Given the description of an element on the screen output the (x, y) to click on. 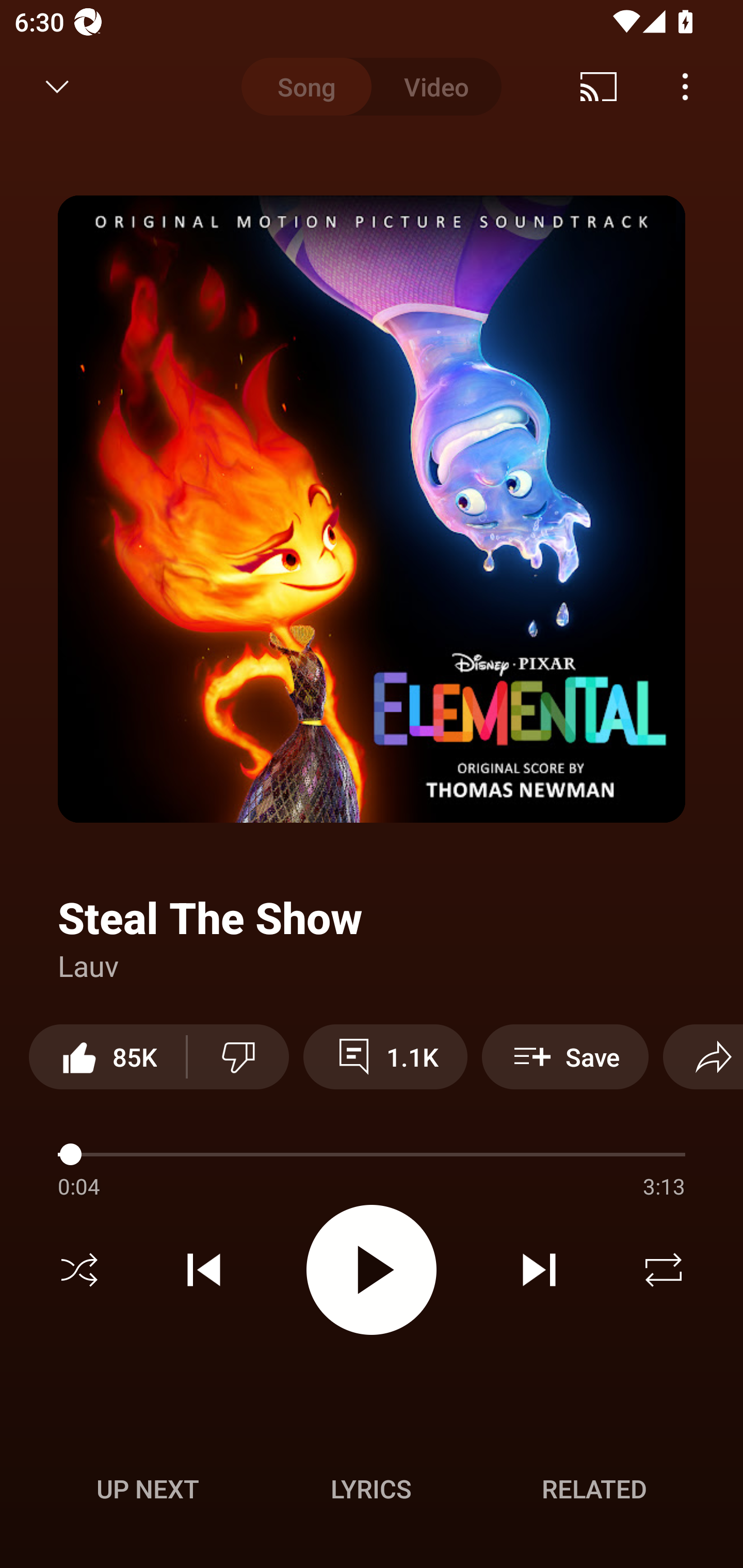
Minimize (57, 86)
Cast. Disconnected (598, 86)
Menu (684, 86)
85K like this video along with 85,782 other people (106, 1056)
Dislike (238, 1056)
1.1K View 1,180 comments (385, 1056)
Save Save to playlist (565, 1056)
Share (702, 1056)
Play video (371, 1269)
Shuffle off (79, 1269)
Previous track (203, 1269)
Next track (538, 1269)
Repeat off (663, 1269)
Up next UP NEXT Lyrics LYRICS Related RELATED (371, 1491)
Lyrics LYRICS (370, 1488)
Related RELATED (594, 1488)
